Given the description of an element on the screen output the (x, y) to click on. 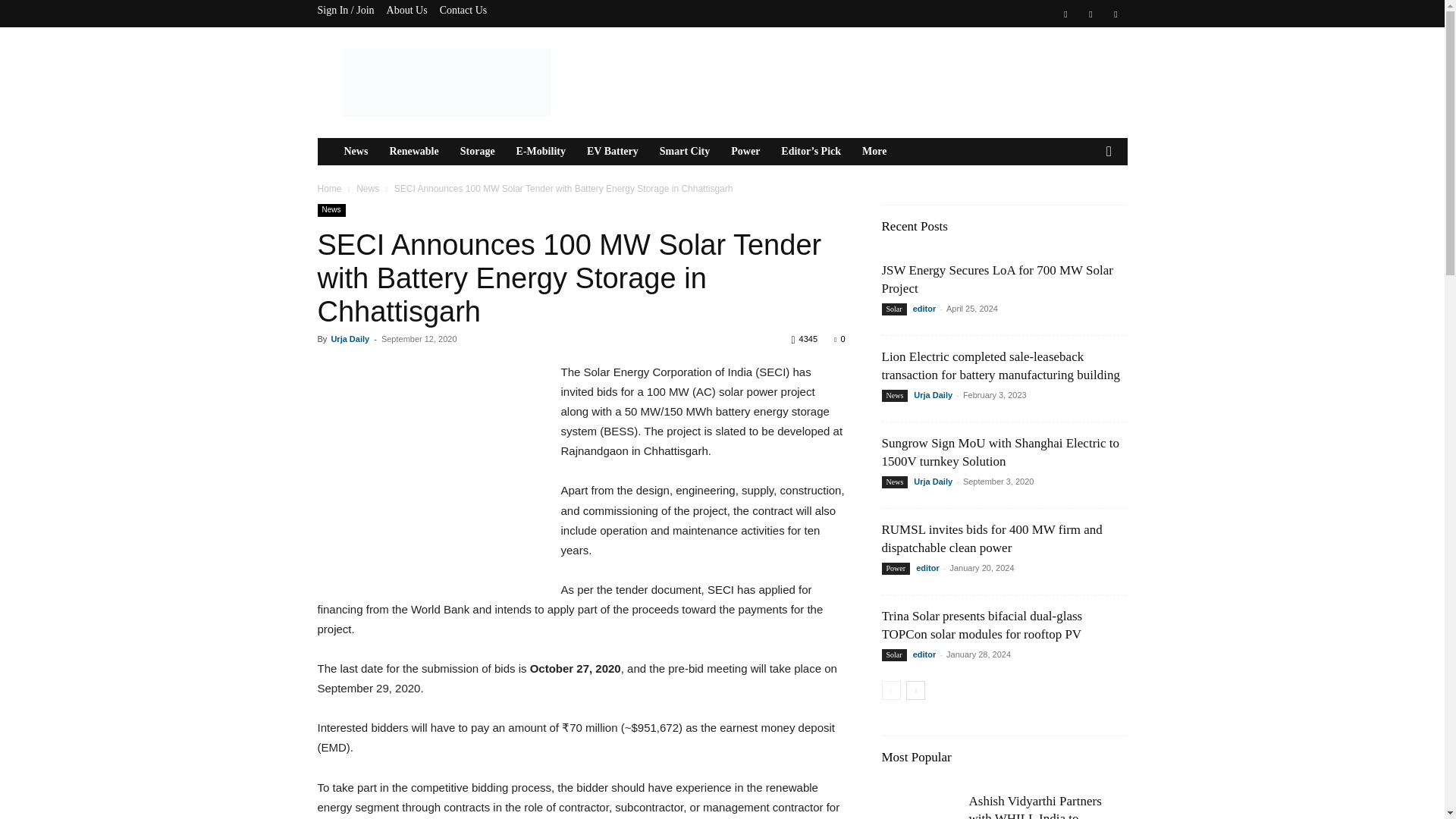
Linkedin (1090, 13)
Contact Us (463, 9)
Twitter (1114, 13)
About Us (407, 9)
Facebook (1065, 13)
View all posts in News (367, 188)
